Given the description of an element on the screen output the (x, y) to click on. 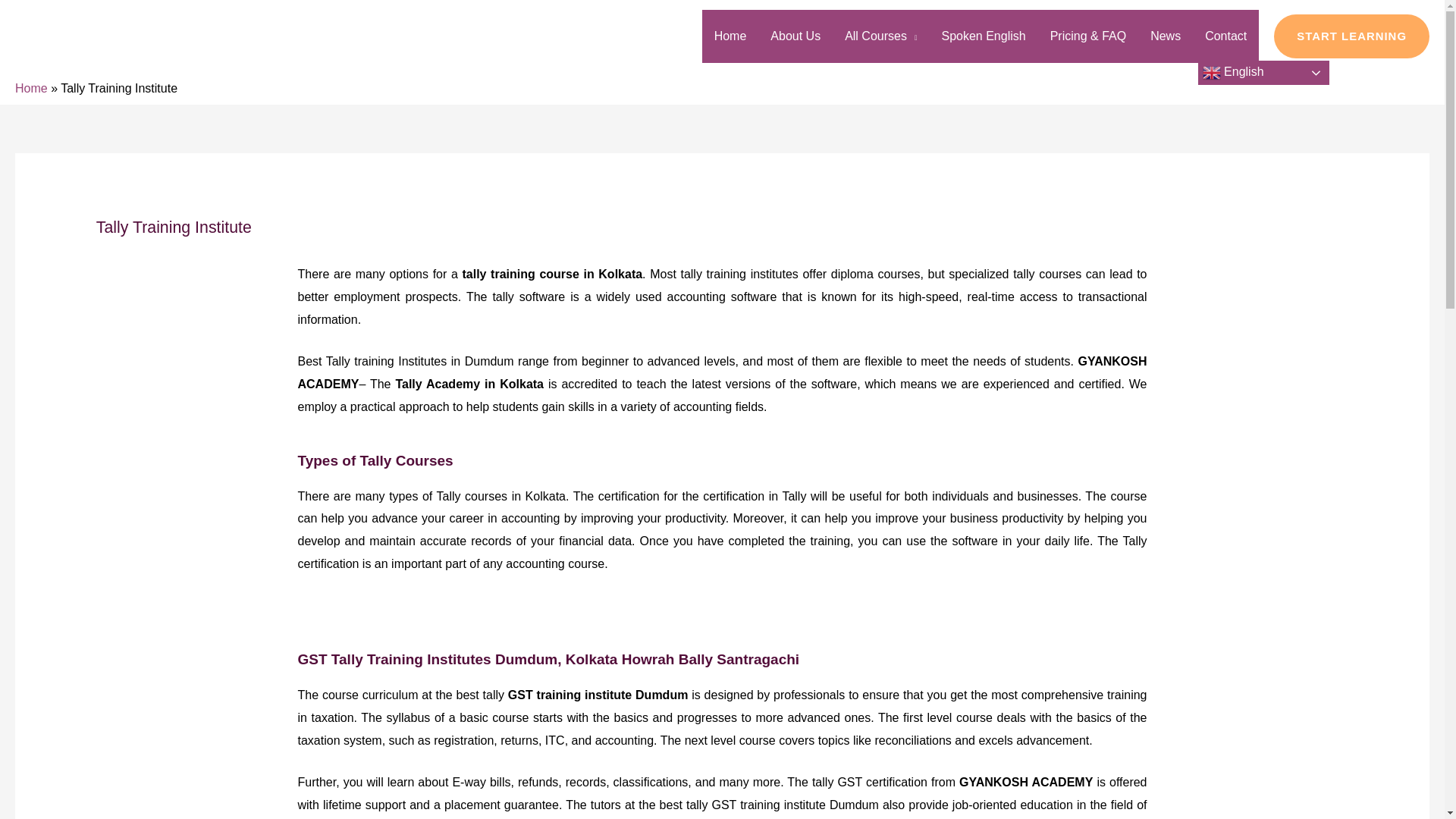
About Us (795, 36)
Home (729, 36)
All Courses (880, 36)
